Given the description of an element on the screen output the (x, y) to click on. 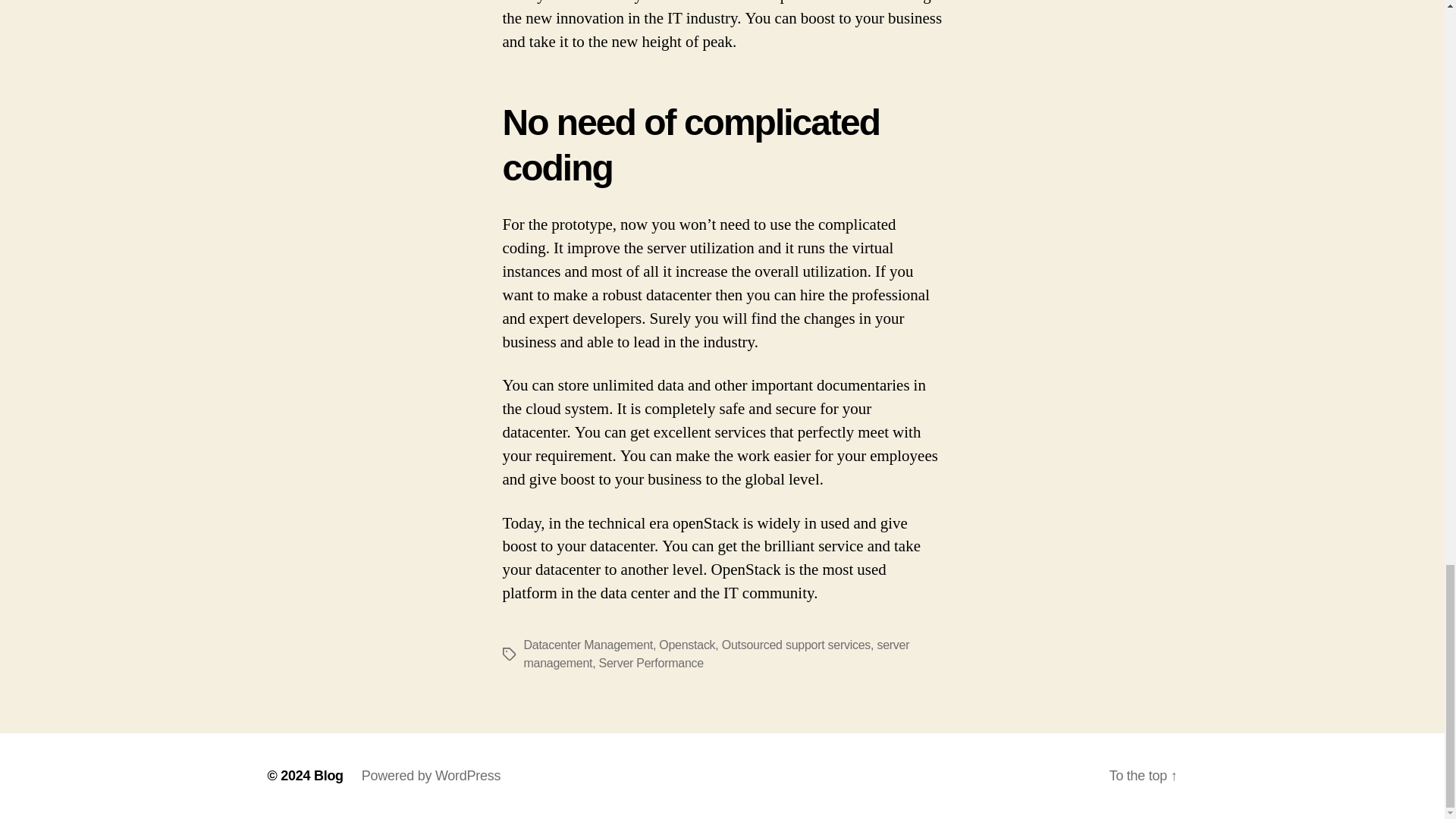
Blog (328, 775)
Datacenter Management (587, 644)
Outsourced support services (796, 644)
Server Performance (650, 662)
Openstack (686, 644)
Powered by WordPress (430, 775)
server management (715, 653)
